Given the description of an element on the screen output the (x, y) to click on. 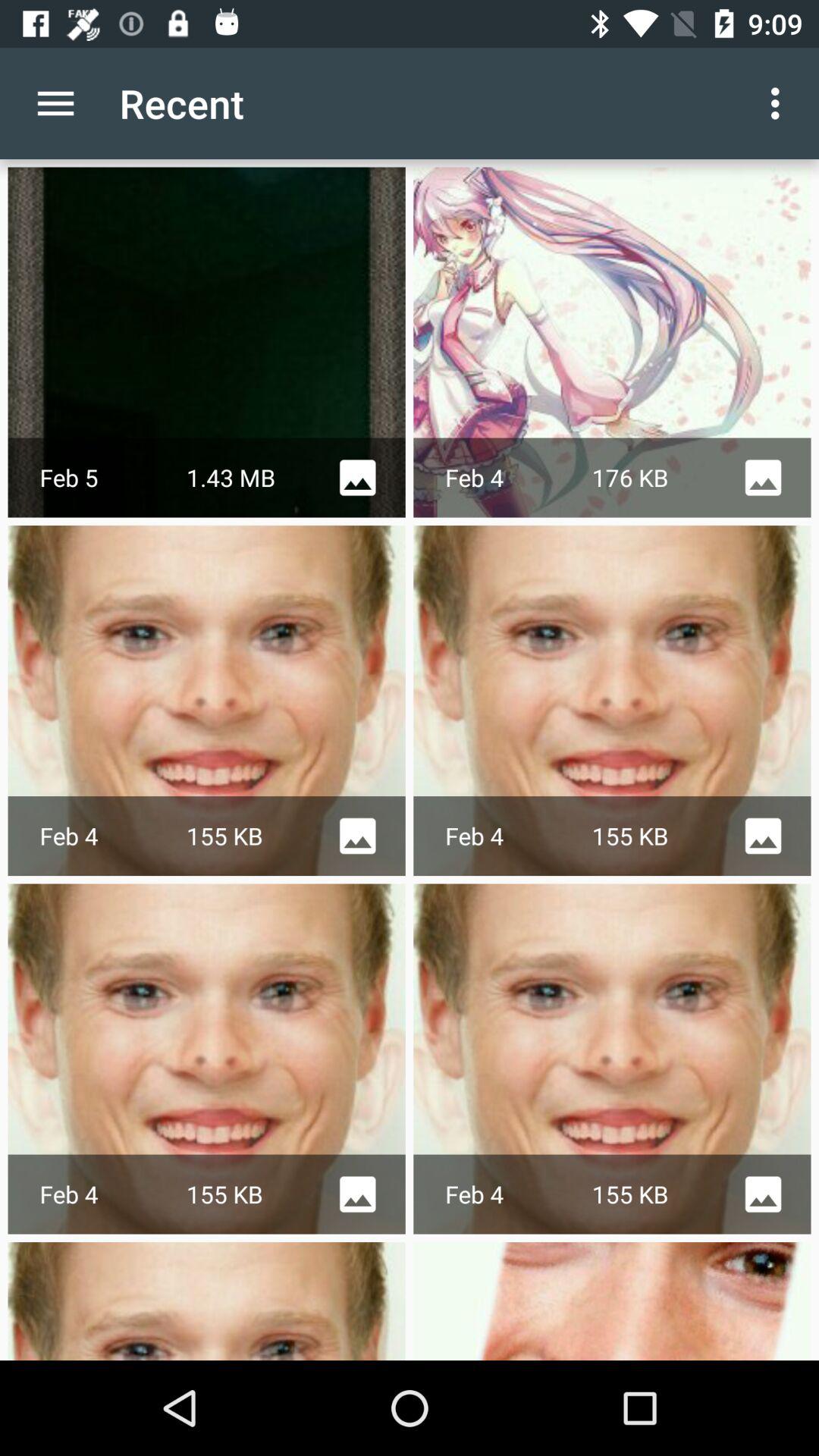
select the item next to the recent icon (779, 103)
